Given the description of an element on the screen output the (x, y) to click on. 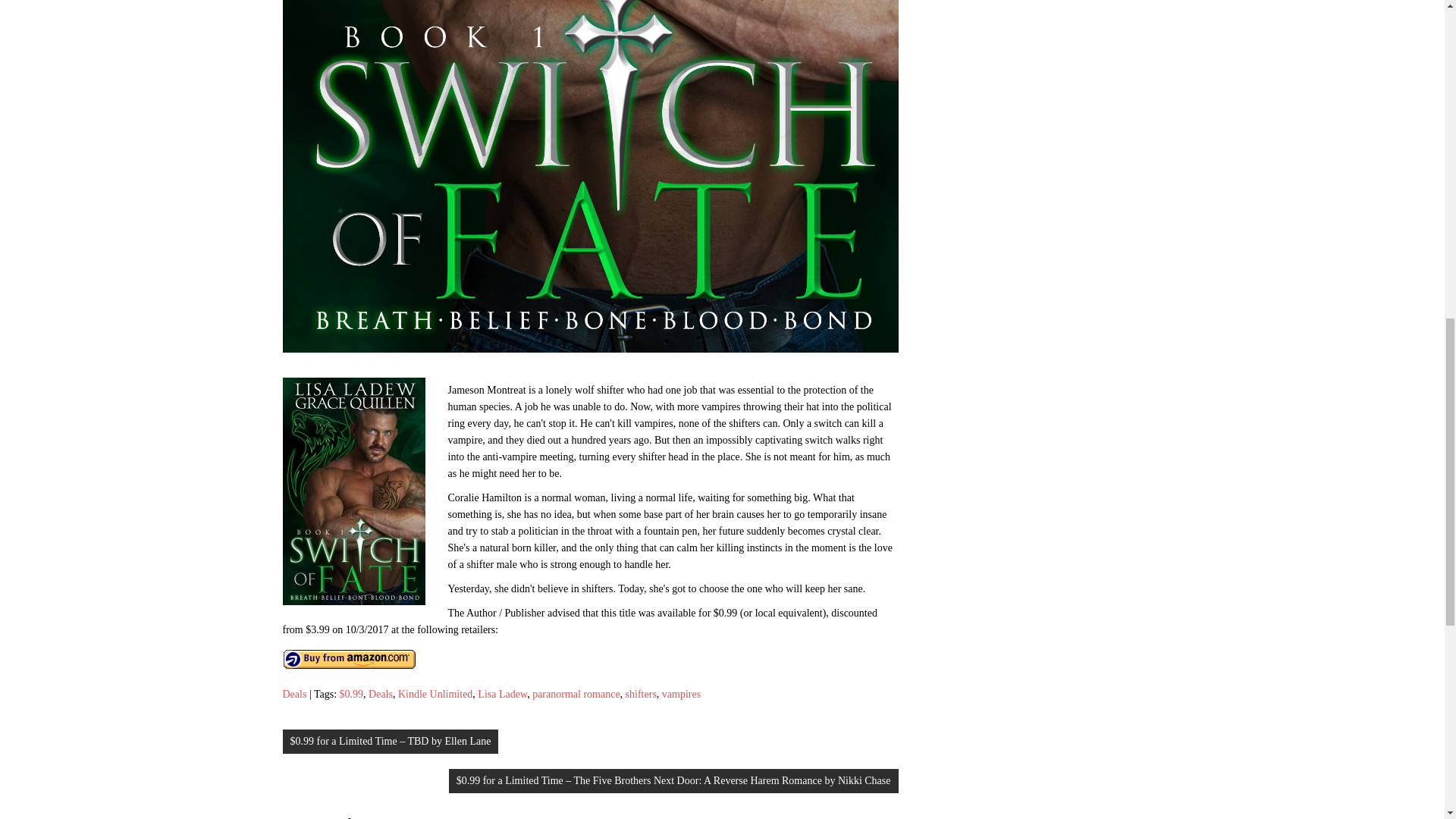
Lisa Ladew (502, 694)
shifters (641, 694)
vampires (681, 694)
Deals (380, 694)
Kindle Unlimited (434, 694)
Deals (293, 694)
paranormal romance (576, 694)
